Given the description of an element on the screen output the (x, y) to click on. 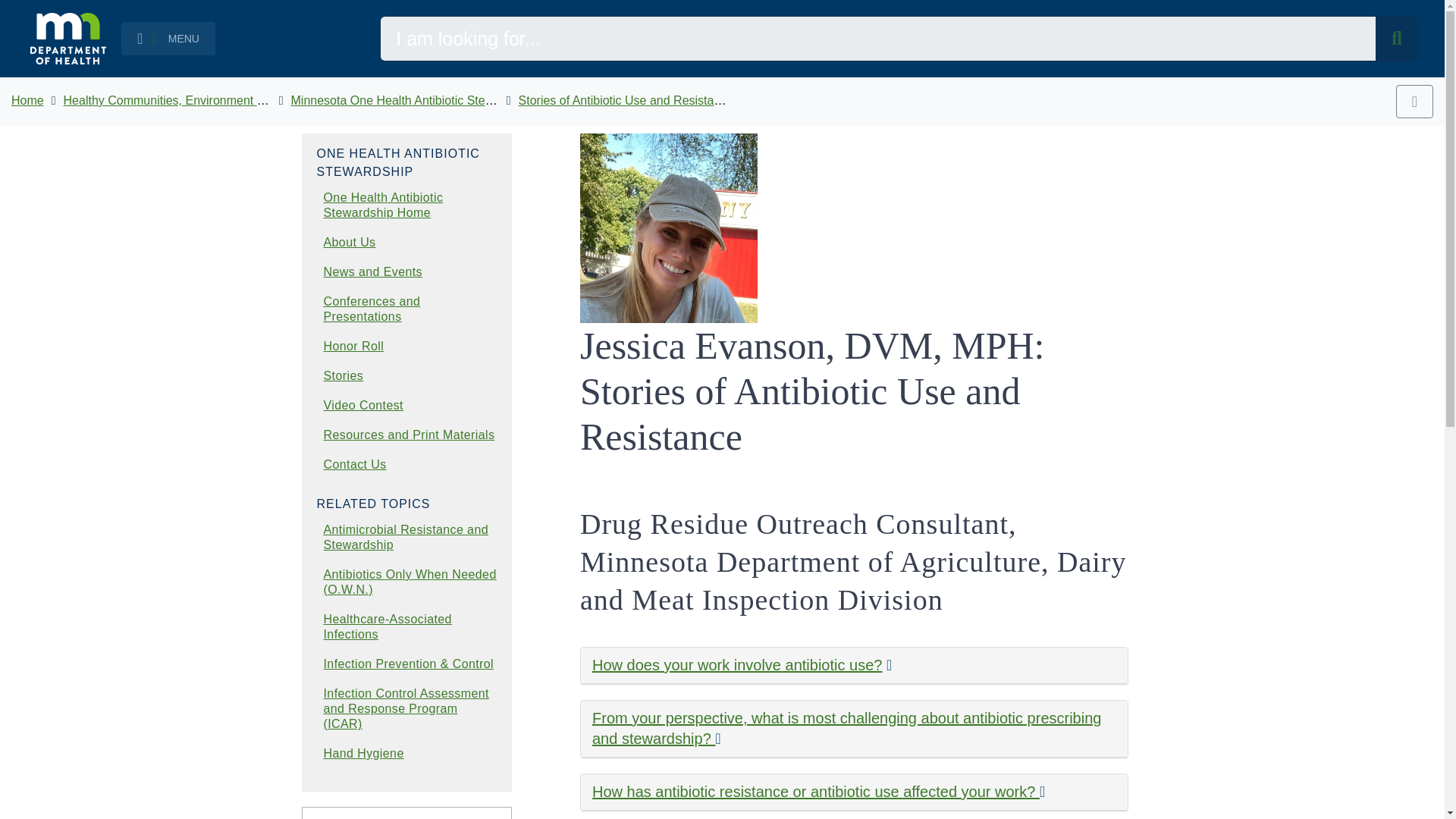
Print (1414, 101)
About Us (349, 241)
Minnesota One Health Antibiotic Stewardship Collaborative (449, 100)
print (1414, 101)
Stories of Antibiotic Use and Resistance (625, 100)
Home (27, 100)
Healthy Communities, Environment and Workplaces (203, 100)
Minnesota One Health Antibiotic Stewardship Collaborative (449, 100)
Healthy Communities, Environment and Workplaces (203, 100)
